Given the description of an element on the screen output the (x, y) to click on. 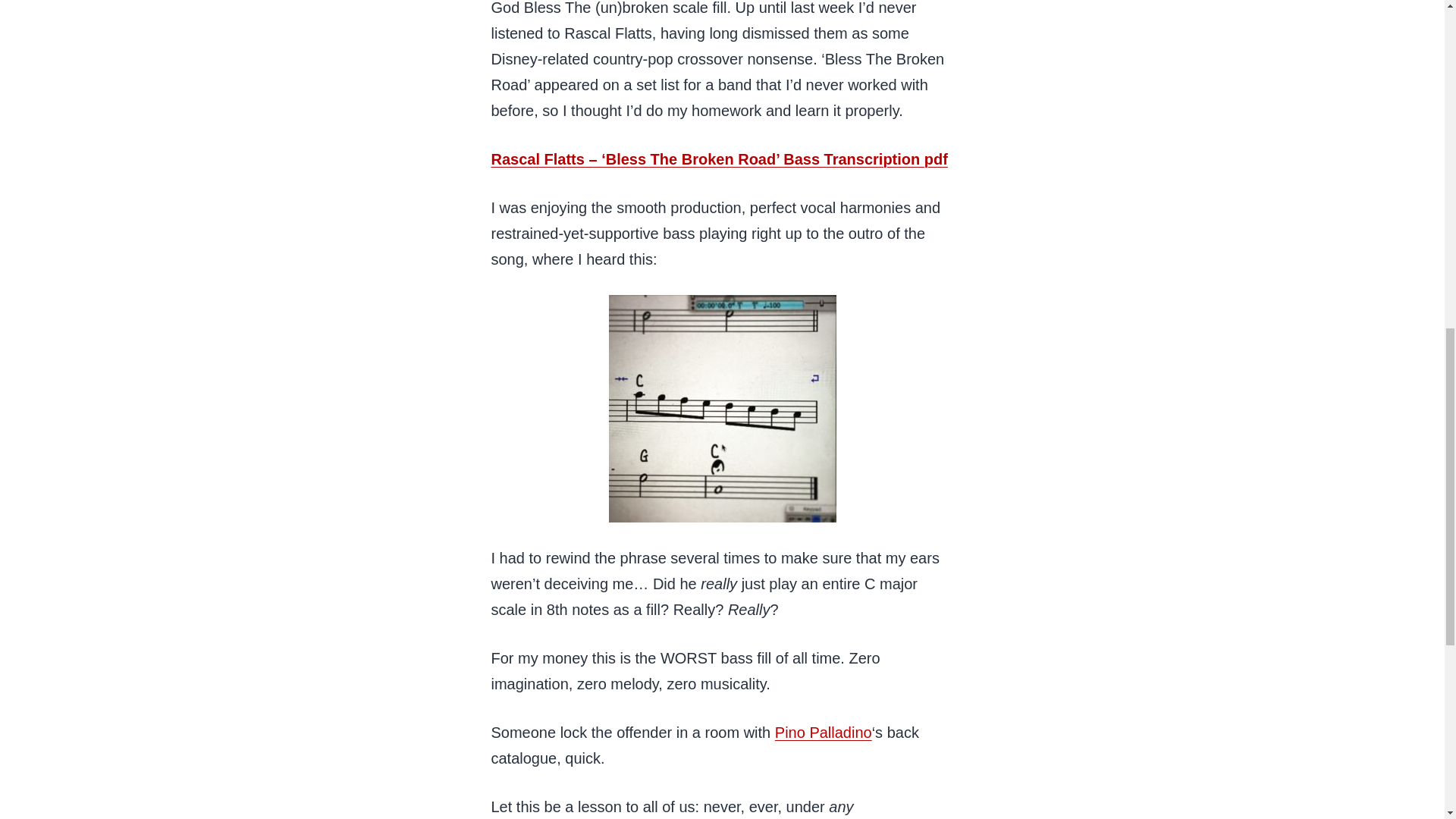
Pino Palladino (823, 732)
